Given the description of an element on the screen output the (x, y) to click on. 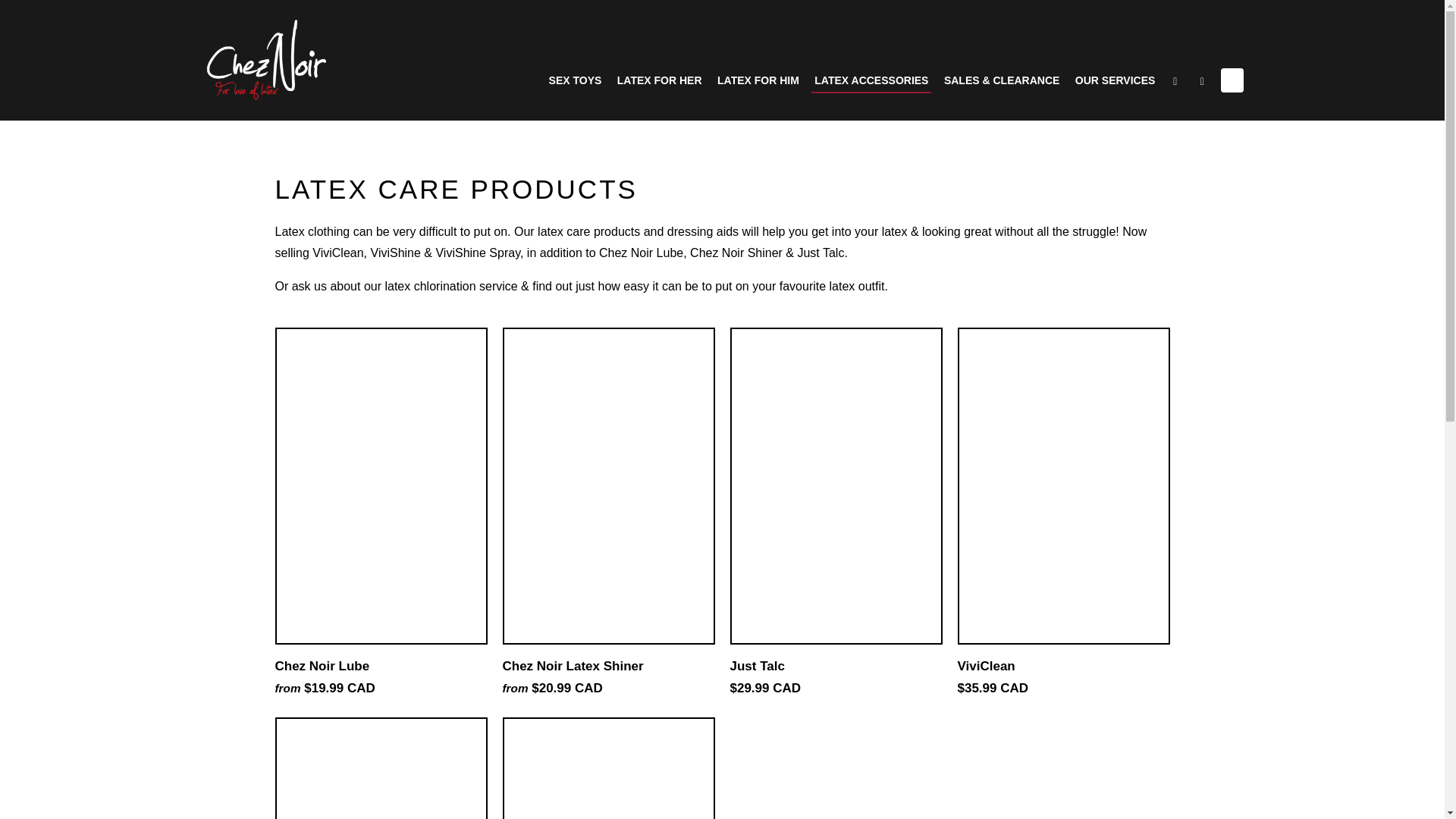
Search (1202, 83)
My Account  (1176, 83)
Chez Noir (266, 59)
